Given the description of an element on the screen output the (x, y) to click on. 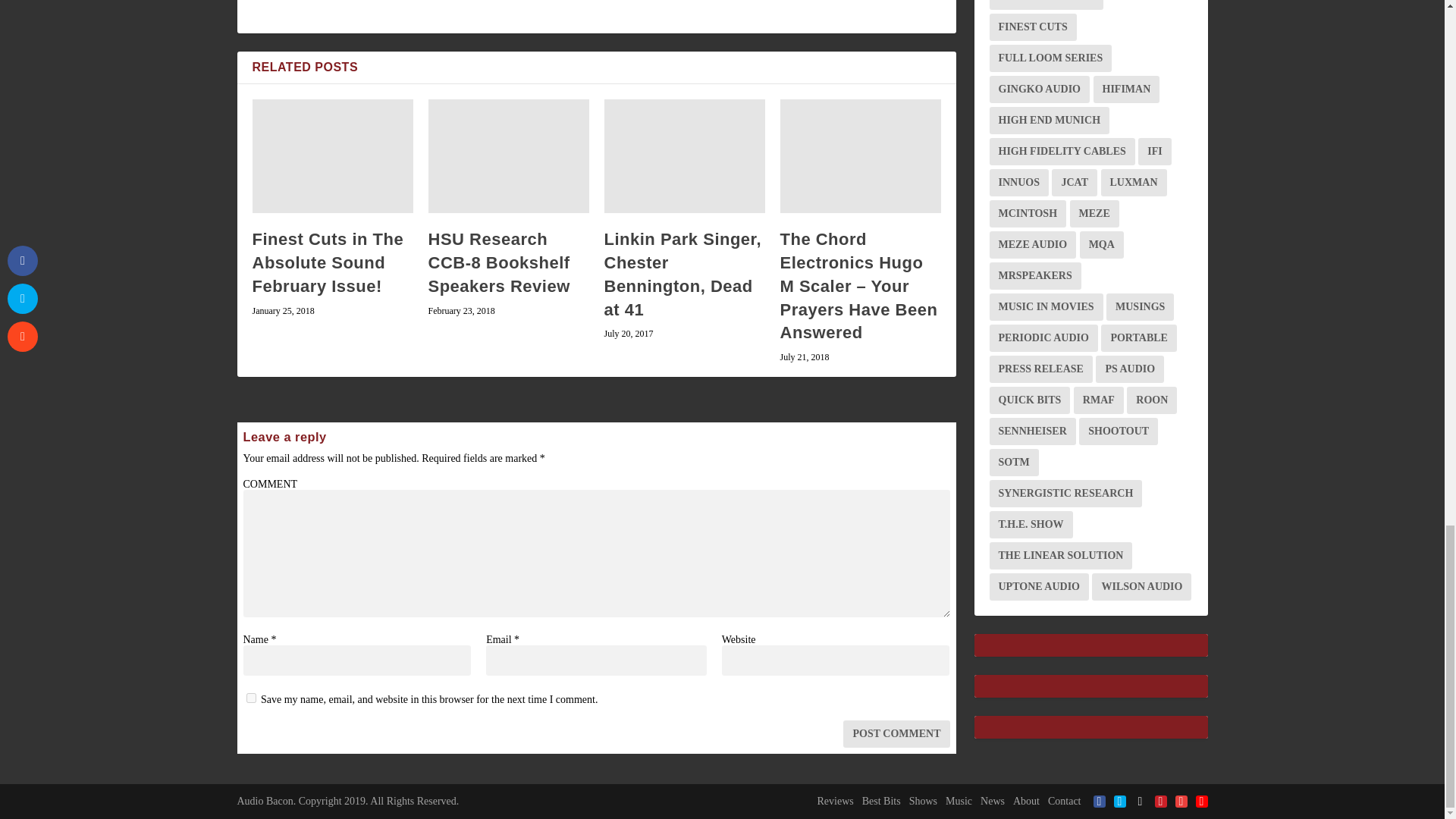
yes (251, 697)
Linkin Park Singer, Chester Bennington, Dead at 41 (684, 155)
Post Comment (896, 733)
Finest Cuts in The Absolute Sound February Issue! (331, 155)
HSU Research CCB-8 Bookshelf Speakers Review (508, 155)
